Given the description of an element on the screen output the (x, y) to click on. 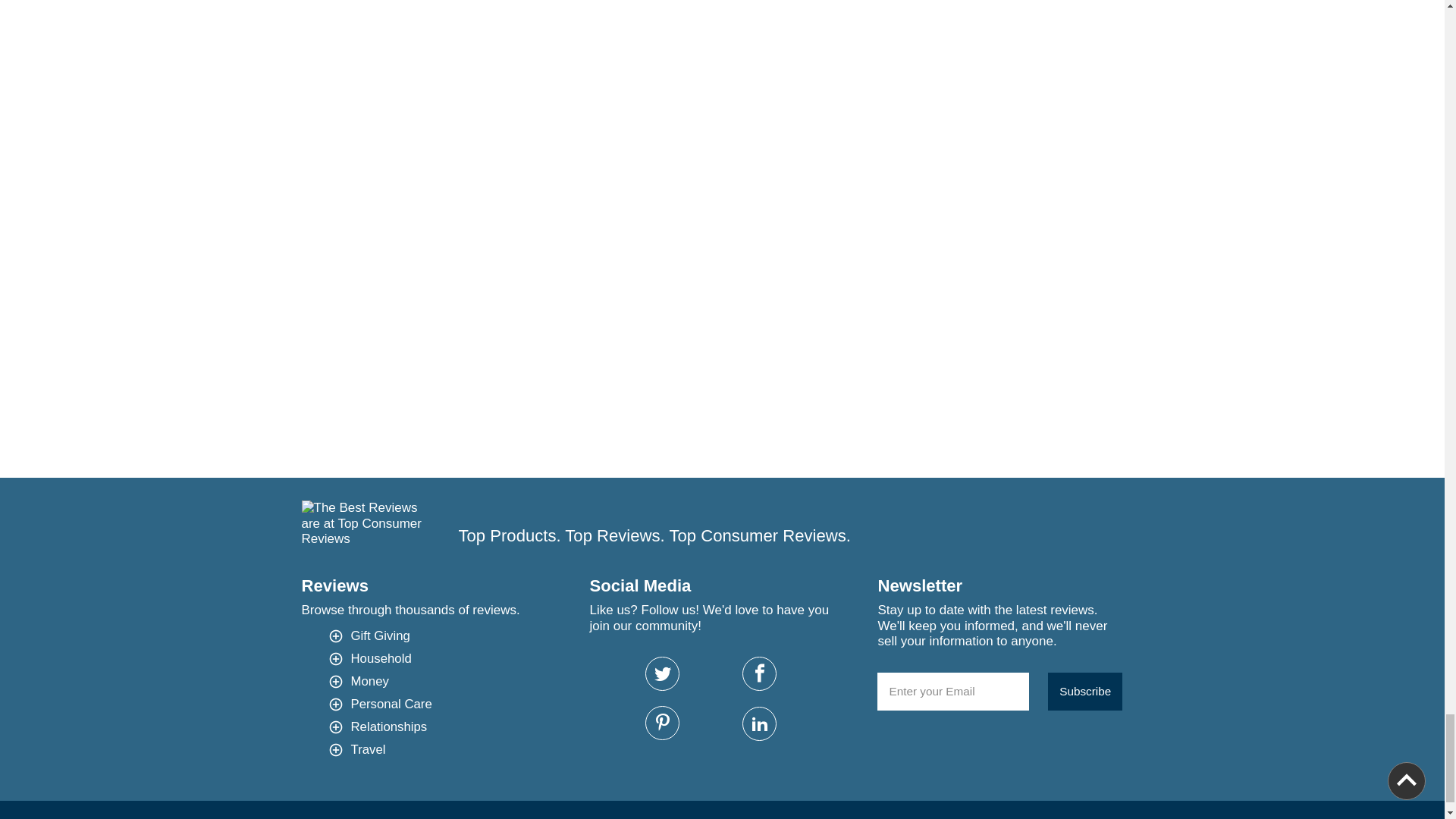
Visit Top Consumer Reviews on Twitter (662, 673)
